Given the description of an element on the screen output the (x, y) to click on. 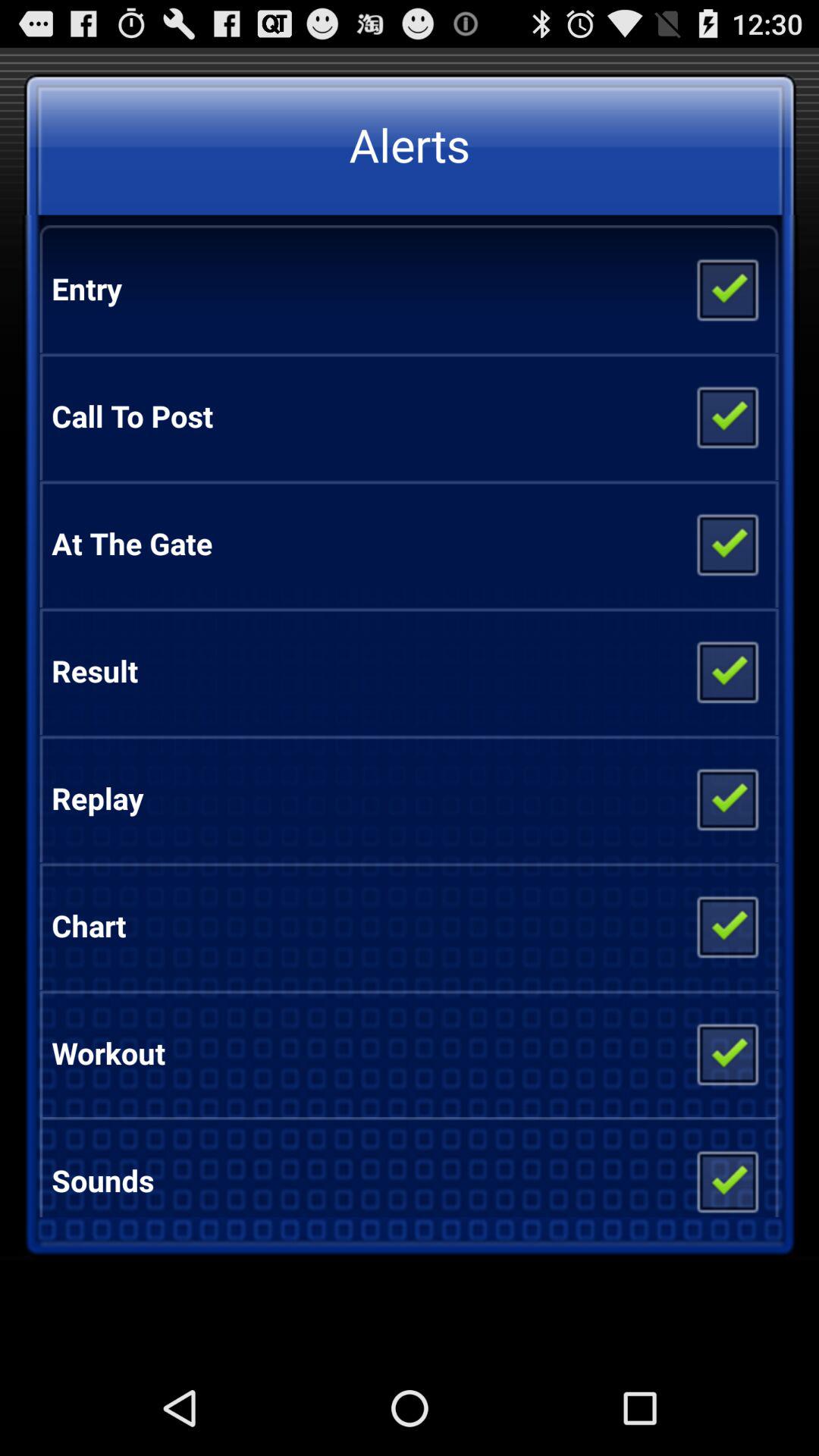
click app next to sounds (726, 1174)
